Given the description of an element on the screen output the (x, y) to click on. 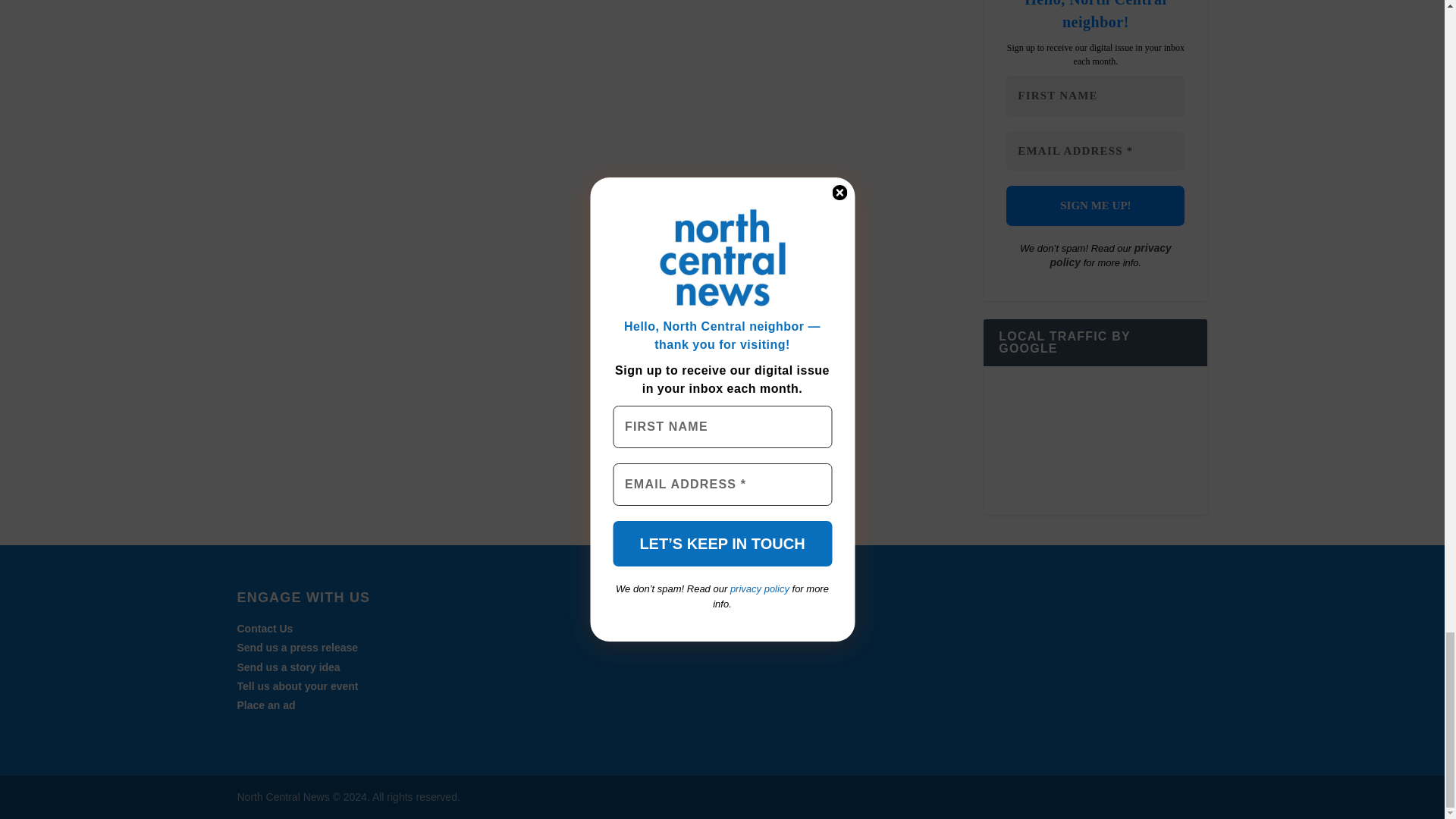
Sign me up! (1095, 205)
